Given the description of an element on the screen output the (x, y) to click on. 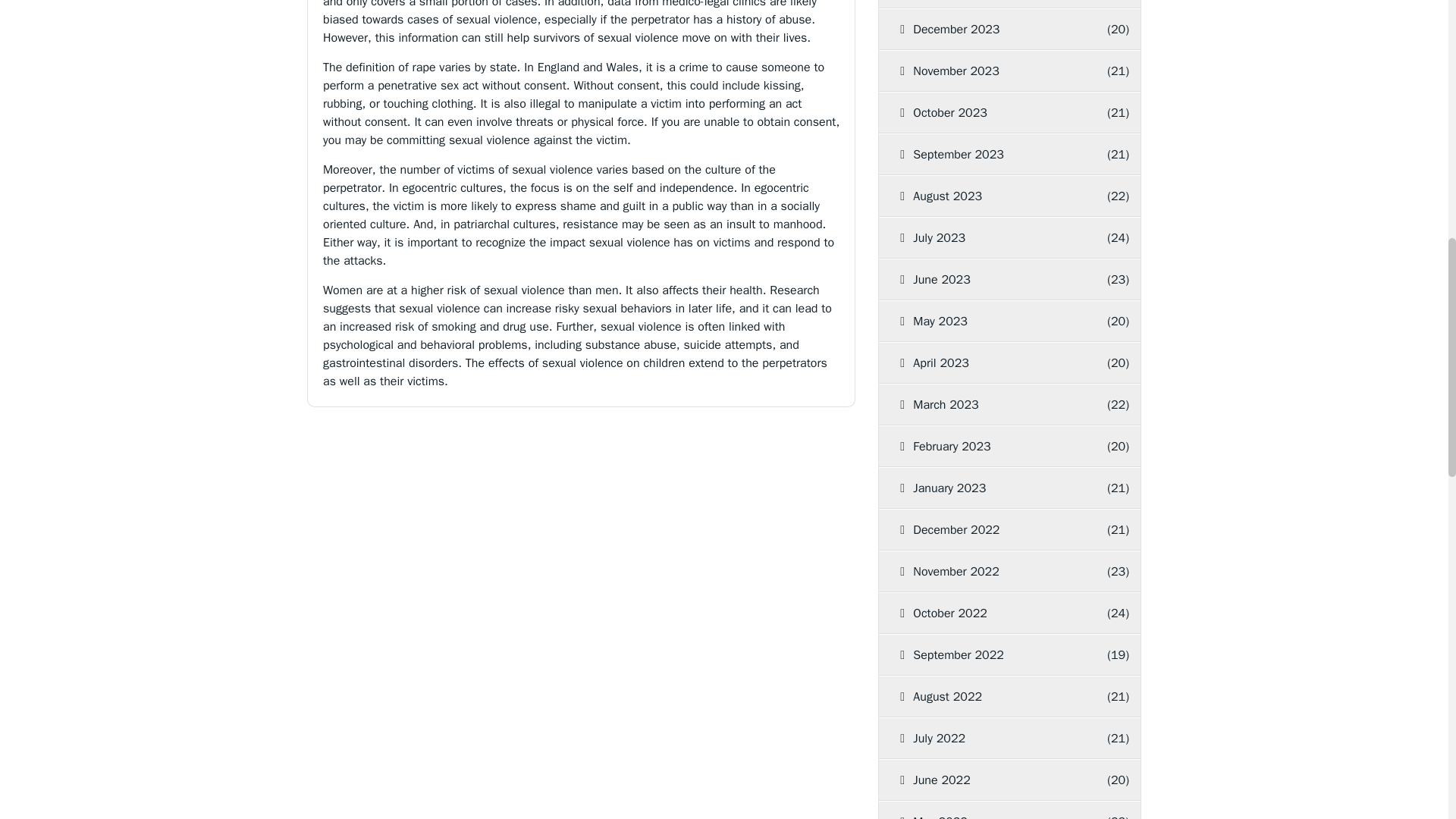
March 2023 (991, 404)
December 2023 (991, 29)
July 2023 (991, 237)
September 2023 (991, 154)
October 2023 (991, 112)
February 2023 (991, 445)
August 2023 (991, 196)
November 2023 (991, 70)
January 2023 (991, 487)
May 2023 (991, 321)
June 2023 (991, 279)
December 2022 (991, 529)
April 2023 (991, 363)
January 2024 (991, 4)
